Given the description of an element on the screen output the (x, y) to click on. 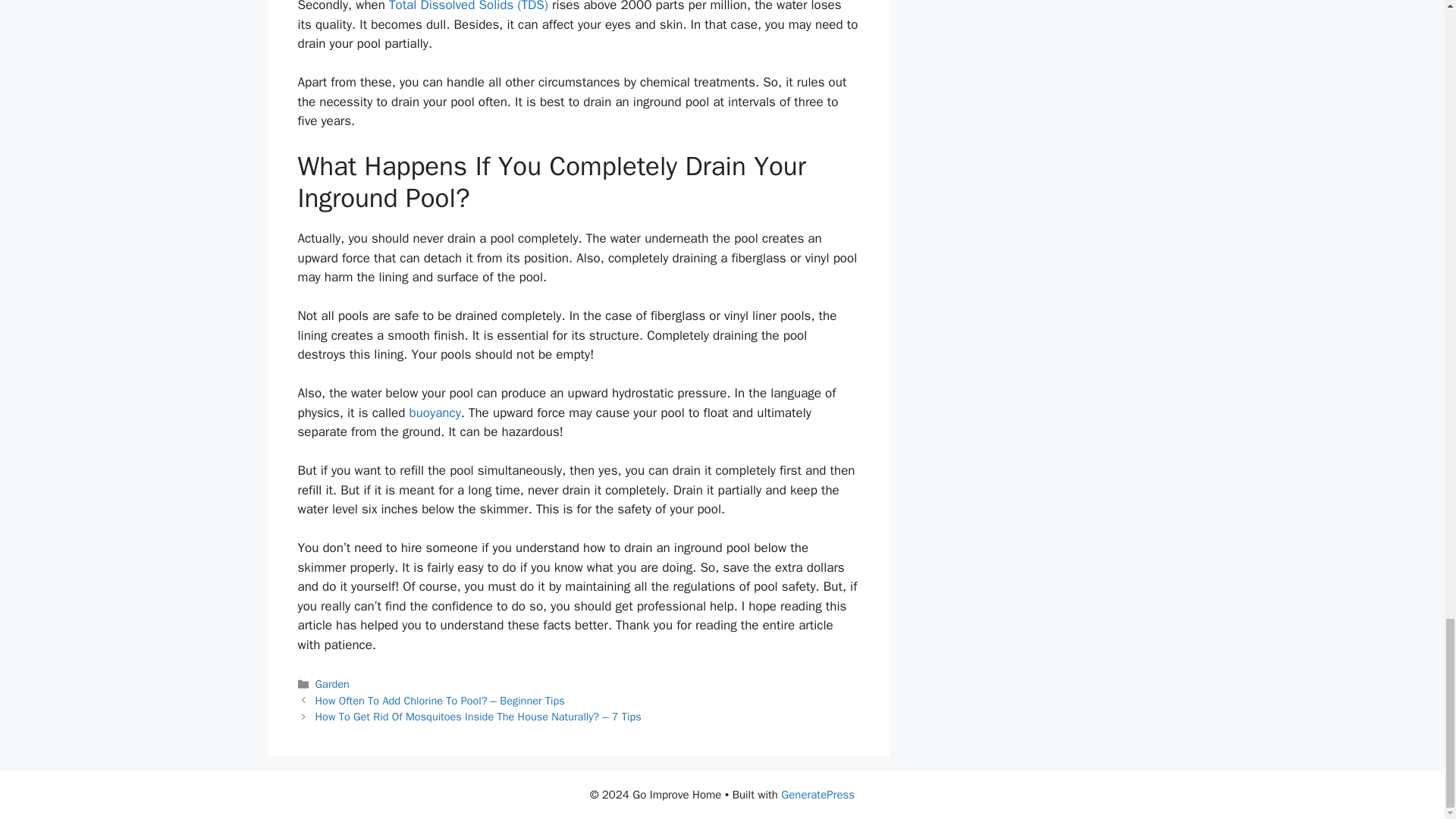
buoyancy (435, 412)
GeneratePress (817, 794)
Garden (332, 684)
